Given the description of an element on the screen output the (x, y) to click on. 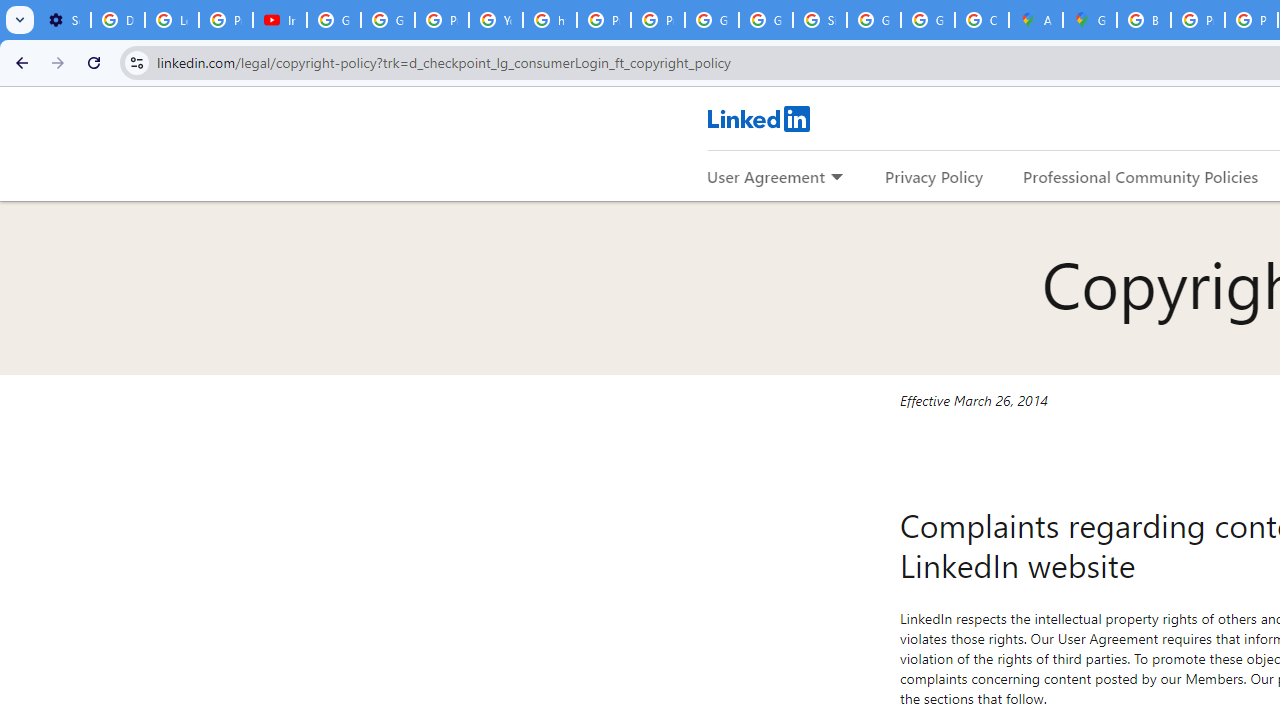
User Agreement (765, 176)
Settings - Customize profile (63, 20)
LinkedIn Logo (758, 118)
Professional Community Policies (1140, 176)
https://scholar.google.com/ (550, 20)
Google Maps (1089, 20)
Privacy Help Center - Policies Help (604, 20)
